Given the description of an element on the screen output the (x, y) to click on. 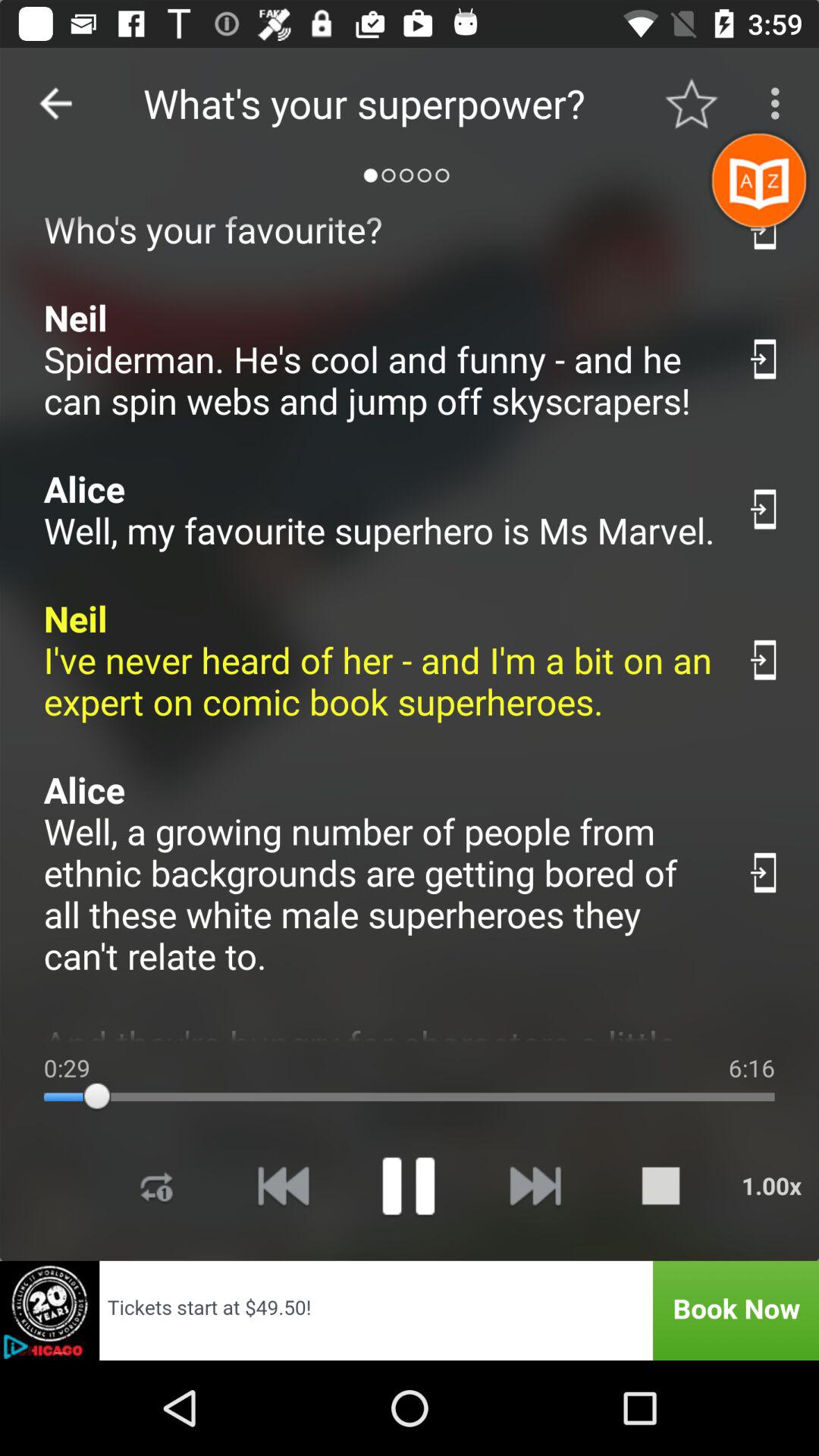
pause audio (408, 1185)
